Given the description of an element on the screen output the (x, y) to click on. 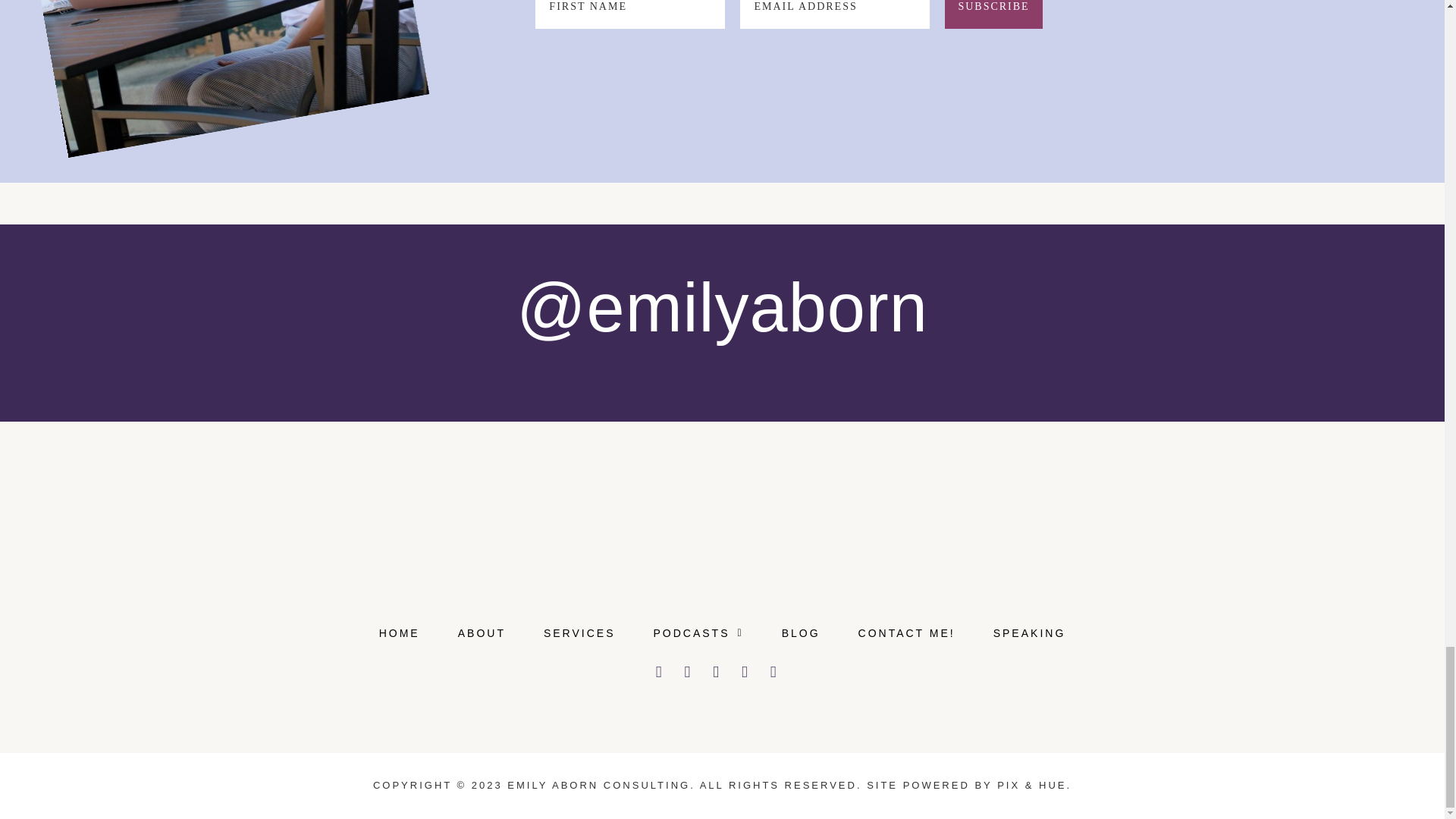
subscribe (993, 14)
Content-copywriter-for-women-entrepreneurs (174, 50)
